Given the description of an element on the screen output the (x, y) to click on. 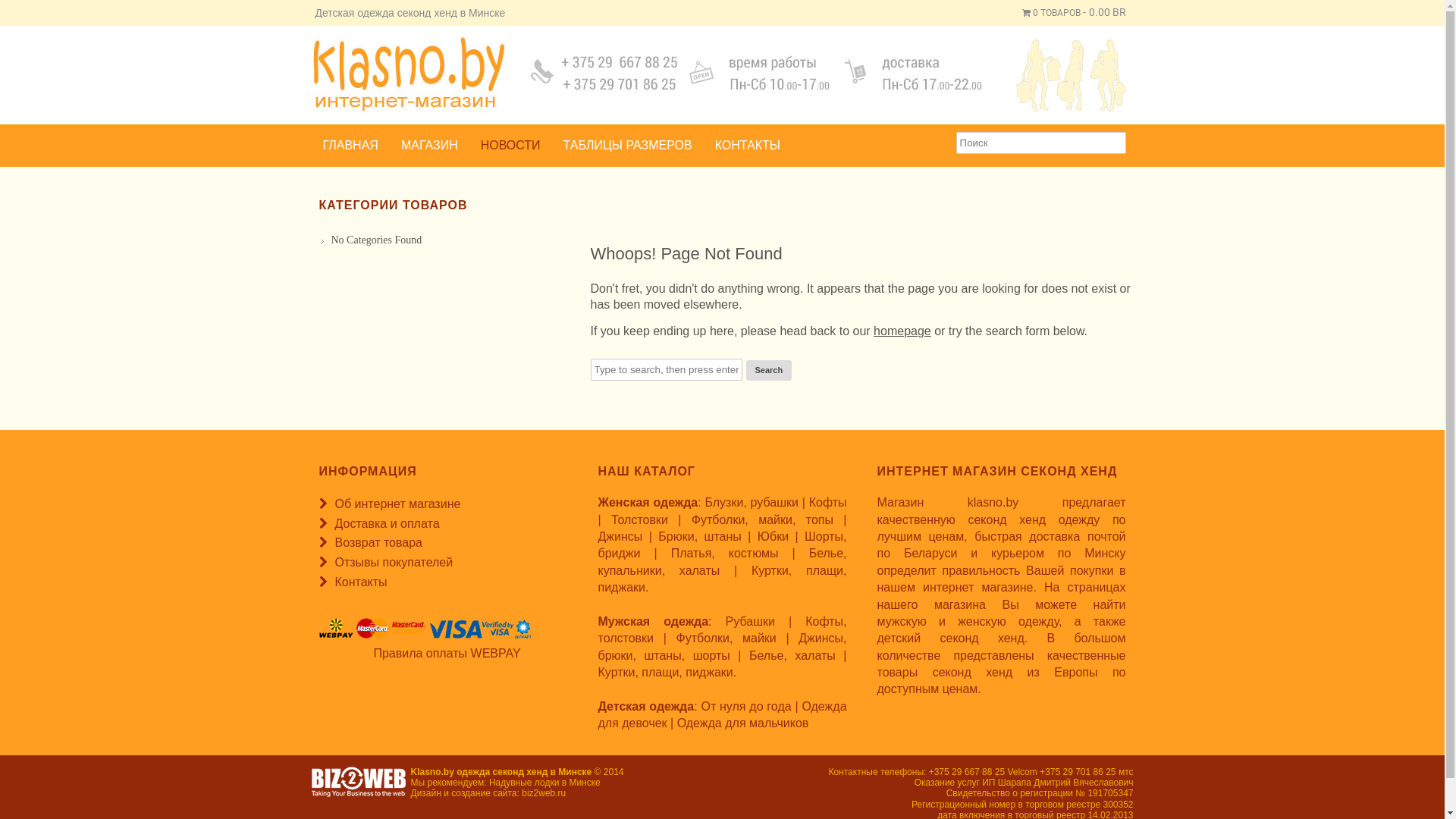
homepage Element type: text (902, 330)
Type to search, then press enter Element type: text (665, 369)
Search Element type: text (23, 10)
Search Element type: text (769, 370)
